Given the description of an element on the screen output the (x, y) to click on. 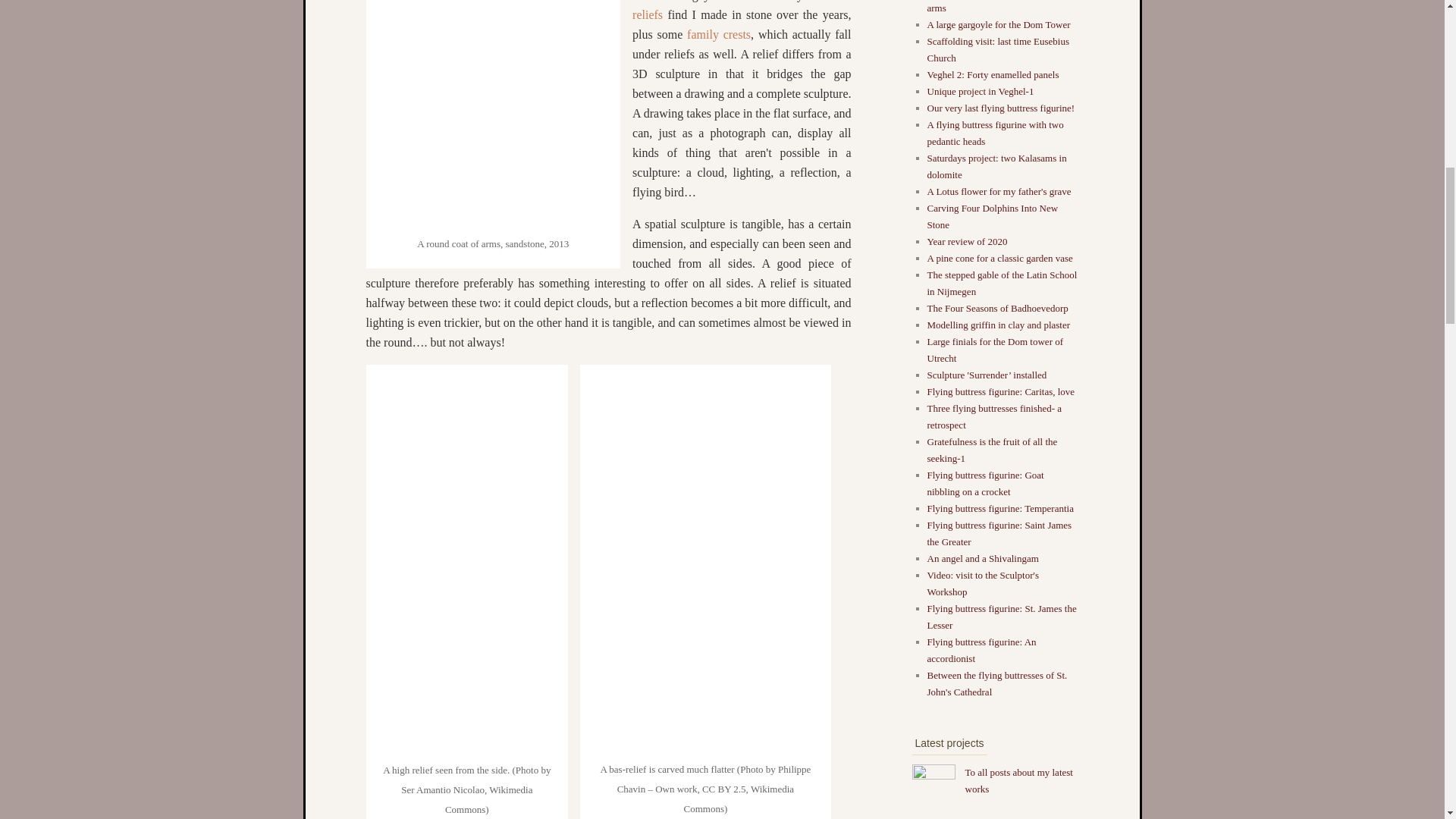
family crests (719, 33)
Bluestone family crest completed (646, 14)
Coat of arms in sandstone completed (492, 218)
Bluestone family crest completed (719, 33)
reliefs (646, 14)
